Given the description of an element on the screen output the (x, y) to click on. 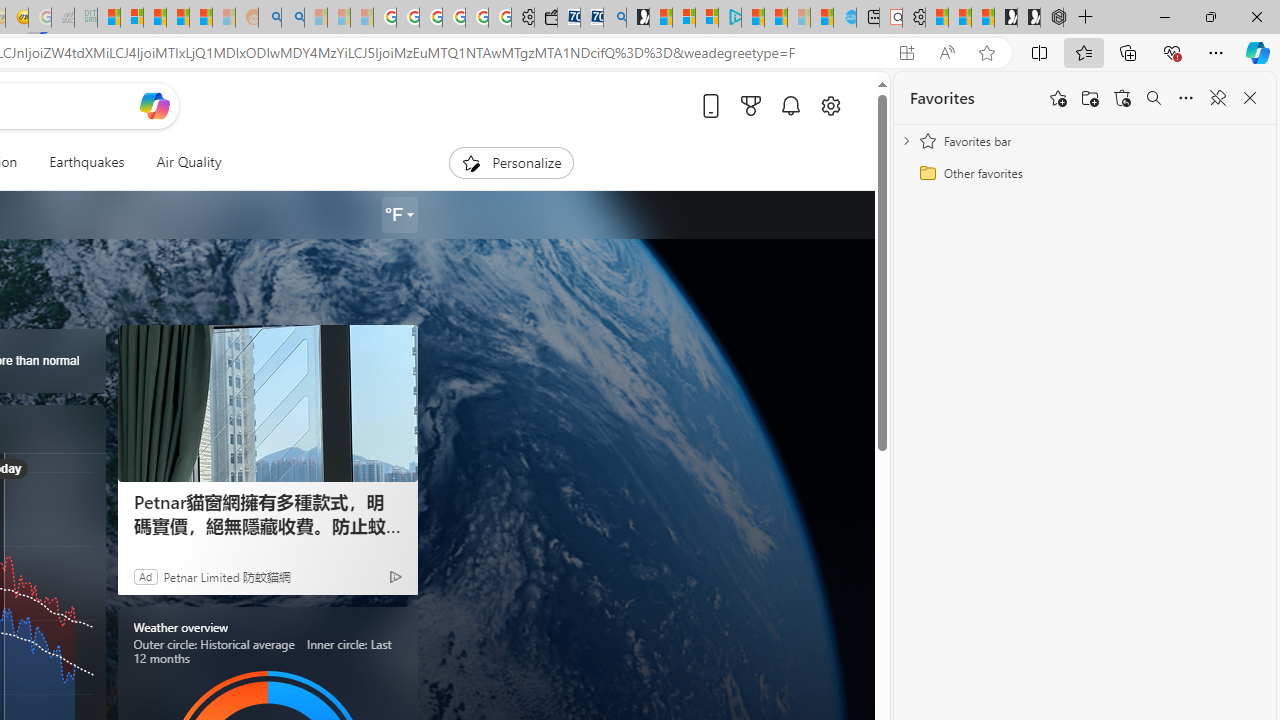
Unpin favorites (1217, 98)
Air Quality (188, 162)
Air Quality (180, 162)
Earthquakes (86, 162)
